Given the description of an element on the screen output the (x, y) to click on. 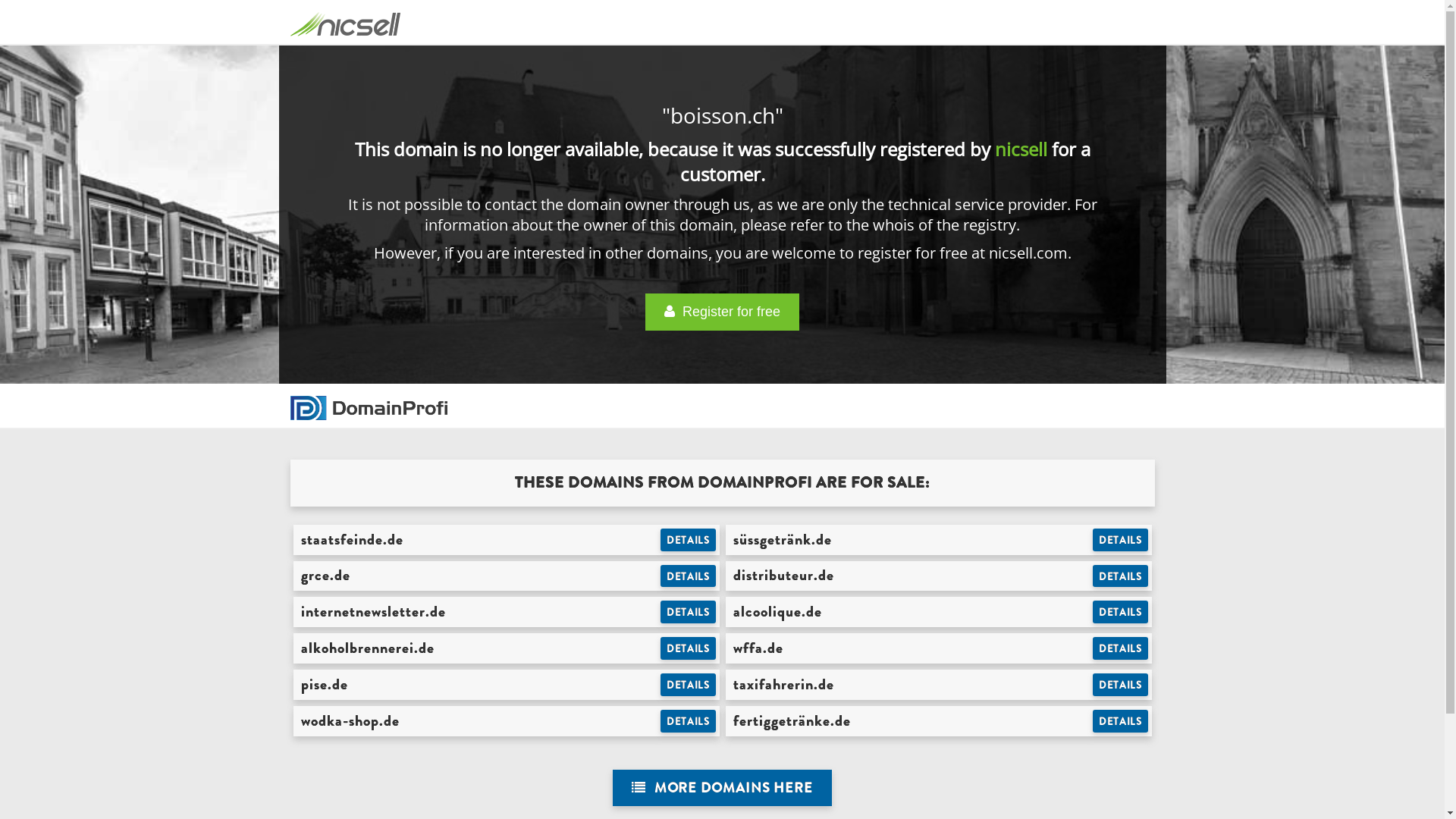
DETAILS Element type: text (1120, 575)
DETAILS Element type: text (1120, 684)
DETAILS Element type: text (687, 684)
DETAILS Element type: text (1120, 720)
DETAILS Element type: text (687, 611)
DETAILS Element type: text (1120, 611)
DETAILS Element type: text (687, 539)
DETAILS Element type: text (1120, 648)
DETAILS Element type: text (687, 648)
DETAILS Element type: text (687, 575)
  Register for free Element type: text (722, 311)
nicsell Element type: text (1020, 148)
DETAILS Element type: text (687, 720)
DETAILS Element type: text (1120, 539)
  MORE DOMAINS HERE Element type: text (721, 787)
